Given the description of an element on the screen output the (x, y) to click on. 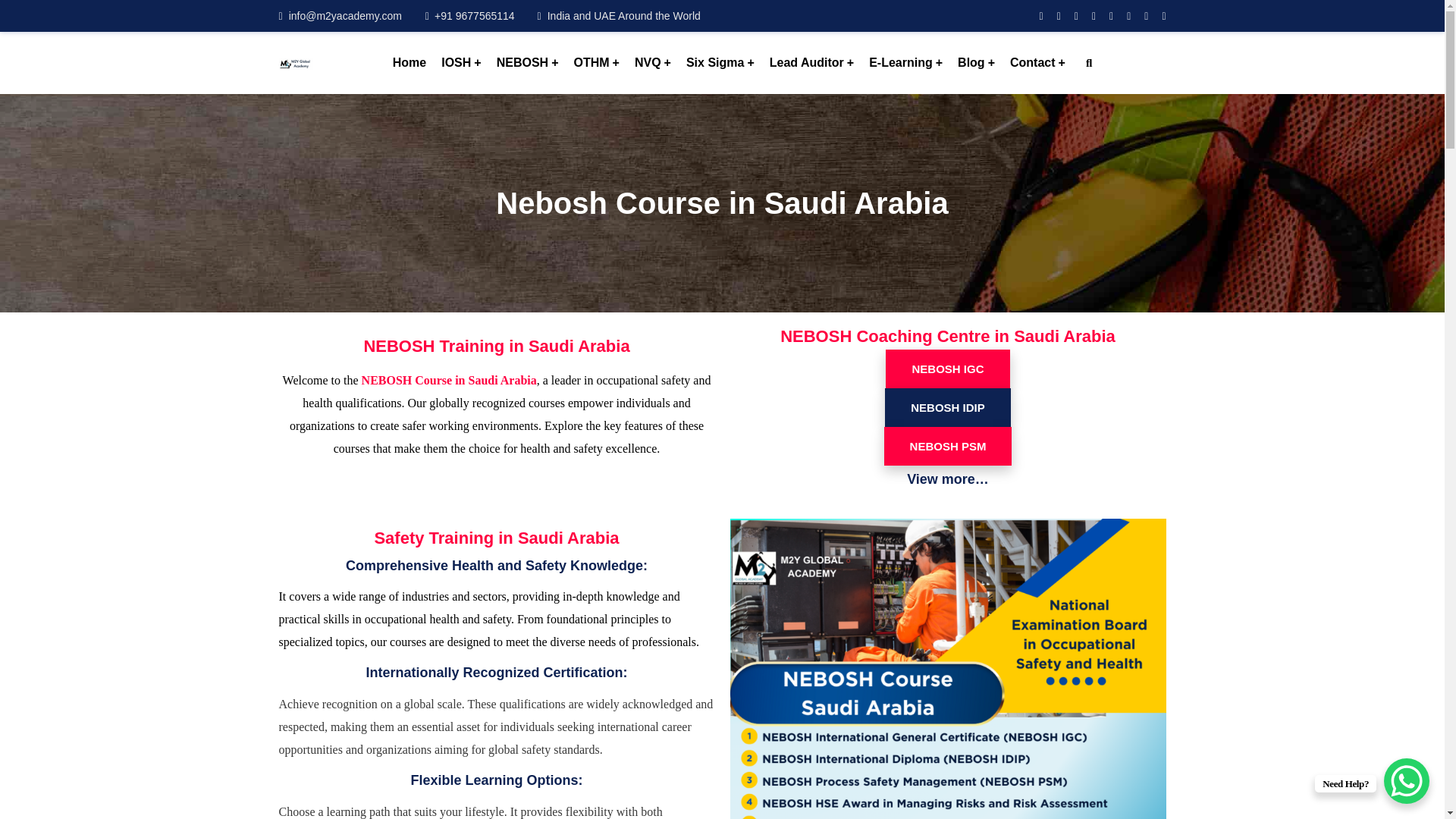
NEBOSH (527, 62)
India and UAE Around the World (618, 15)
